Given the description of an element on the screen output the (x, y) to click on. 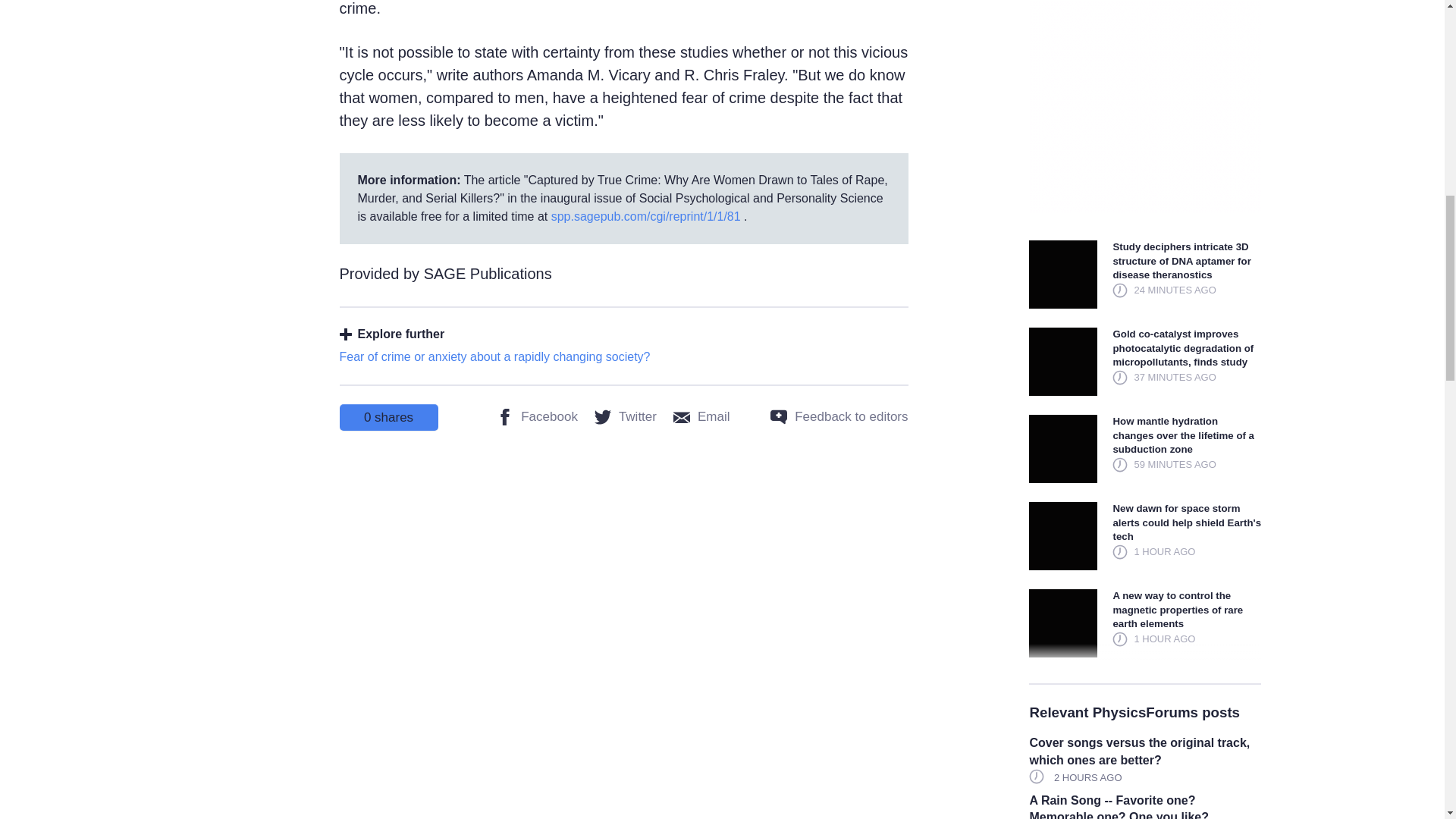
Fear of crime or anxiety about a rapidly changing society? (494, 356)
